Given the description of an element on the screen output the (x, y) to click on. 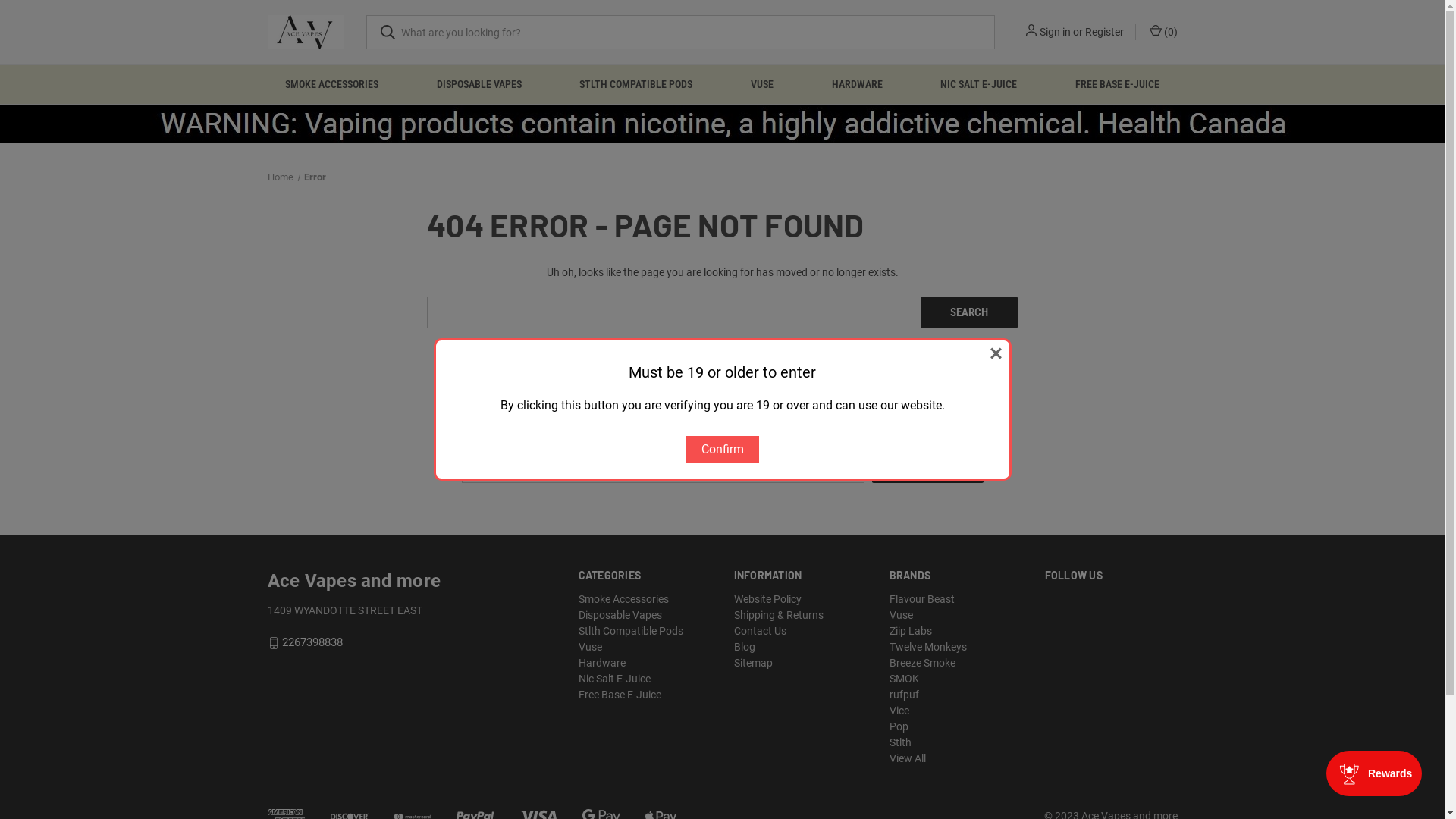
SMOK Element type: text (904, 678)
Hardware Element type: text (601, 662)
Pop Element type: text (898, 726)
Vuse Element type: text (590, 646)
HARDWARE Element type: text (856, 84)
Confirm Element type: text (721, 449)
Flavour Beast Element type: text (921, 599)
Stlth Compatible Pods Element type: text (630, 630)
DISPOSABLE VAPES Element type: text (478, 84)
Search Element type: text (968, 311)
Sitemap Element type: text (753, 662)
Home Element type: text (279, 176)
Vice Element type: text (899, 710)
NIC SALT E-JUICE Element type: text (978, 84)
(0) Element type: text (1161, 32)
Vuse Element type: text (901, 614)
Sign in Element type: text (1054, 32)
Ziip Labs Element type: text (910, 630)
Twelve Monkeys Element type: text (927, 646)
Stlth Element type: text (900, 742)
Free Base E-Juice Element type: text (619, 694)
Contact Us Element type: text (760, 630)
Ace Vapes and more Element type: hover (304, 32)
Disposable Vapes Element type: text (620, 614)
Smoke Accessories Element type: text (623, 599)
Website Policy Element type: text (767, 599)
Register Element type: text (1103, 32)
Shipping & Returns Element type: text (778, 614)
STLTH COMPATIBLE PODS Element type: text (635, 84)
Nic Salt E-Juice Element type: text (614, 678)
SMOKE ACCESSORIES Element type: text (331, 84)
Rewards Element type: text (1373, 773)
Breeze Smoke Element type: text (922, 662)
rufpuf Element type: text (904, 694)
FREE BASE E-JUICE Element type: text (1117, 84)
View All Element type: text (907, 758)
Blog Element type: text (744, 646)
Subscribe Element type: text (927, 467)
Error Element type: text (315, 176)
2267398838 Element type: text (312, 642)
VUSE Element type: text (762, 84)
